Given the description of an element on the screen output the (x, y) to click on. 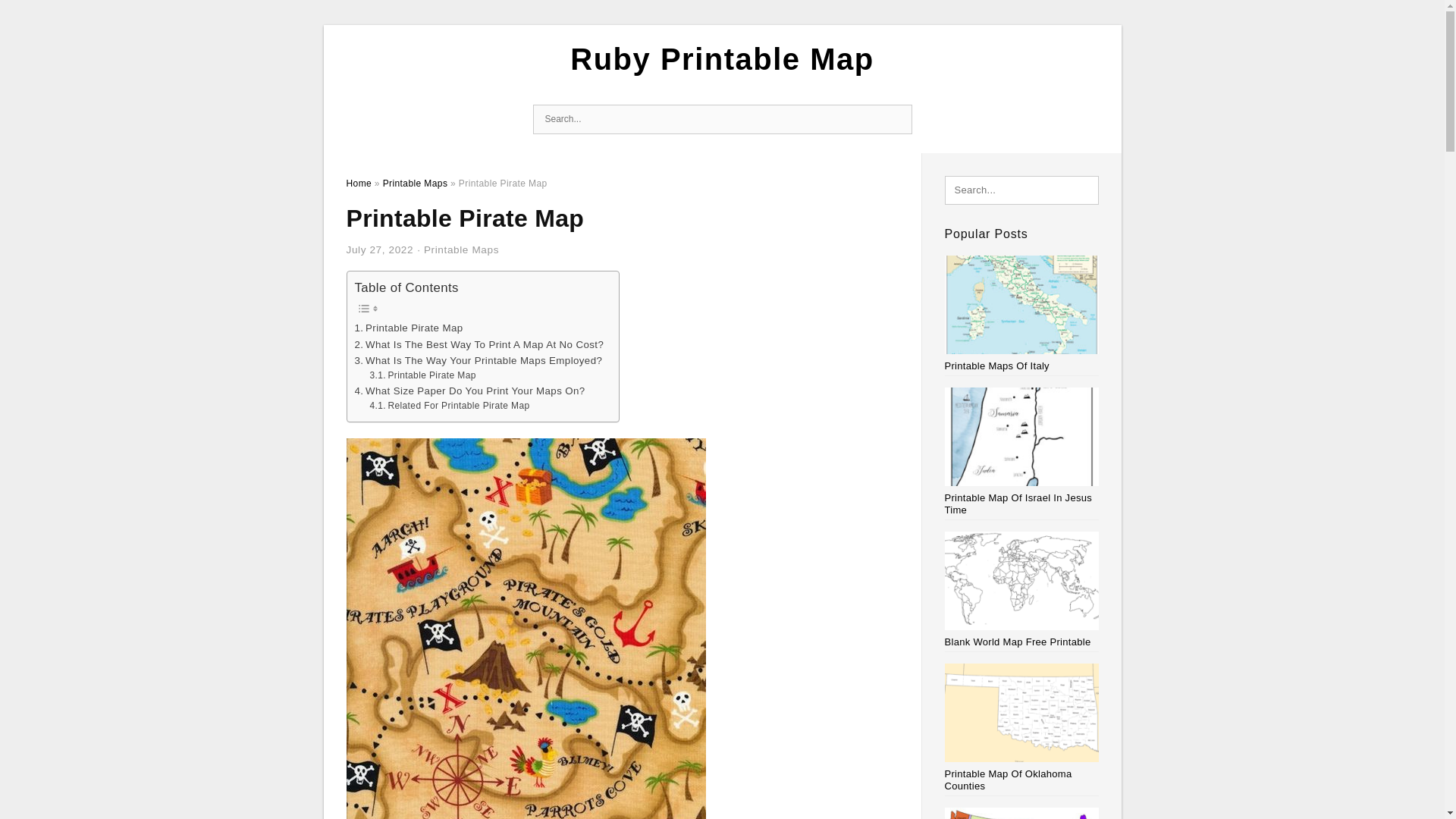
Printable Pirate Map (422, 375)
Home (358, 183)
Related For Printable Pirate Map (449, 405)
Search (895, 119)
Related For Printable Pirate Map (449, 405)
Search (895, 119)
Printable Pirate Map (409, 327)
What Is The Best Way To Print A Map At No Cost? (479, 344)
Search (895, 119)
Printable Maps (461, 249)
What Size Paper Do You Print Your Maps On? (470, 390)
What Is The Best Way To Print A Map At No Cost? (479, 344)
What Is The Way Your Printable Maps Employed? (478, 360)
Printable Pirate Map (409, 327)
